Given the description of an element on the screen output the (x, y) to click on. 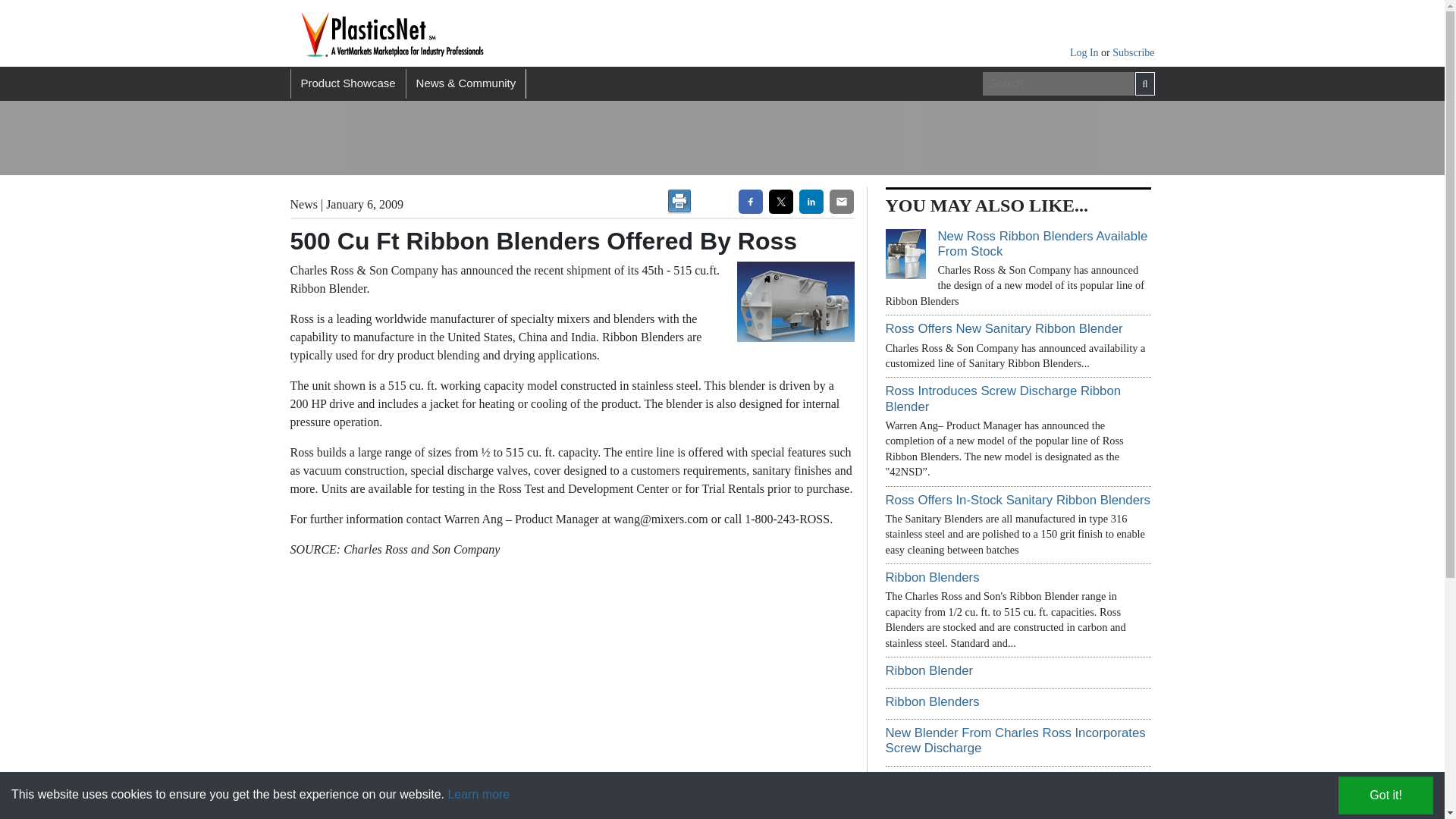
Ross Offers New Sanitary Ribbon Blender (1003, 328)
New Ross Ribbon Blenders Available From Stock (1042, 243)
Ross Introduces Screw Discharge Ribbon Blender (1003, 398)
Ribbon Blender (929, 670)
A-RB515.jpg (791, 301)
Subscribe (1133, 52)
New Blender From Charles Ross Incorporates Screw Discharge (1015, 740)
Ribbon Blenders (932, 701)
3rd party ad content (623, 137)
Got it! (1385, 795)
Log In (1085, 52)
Learn more (477, 793)
Print (679, 201)
Product Showcase (346, 83)
3rd party ad content (1008, 137)
